Given the description of an element on the screen output the (x, y) to click on. 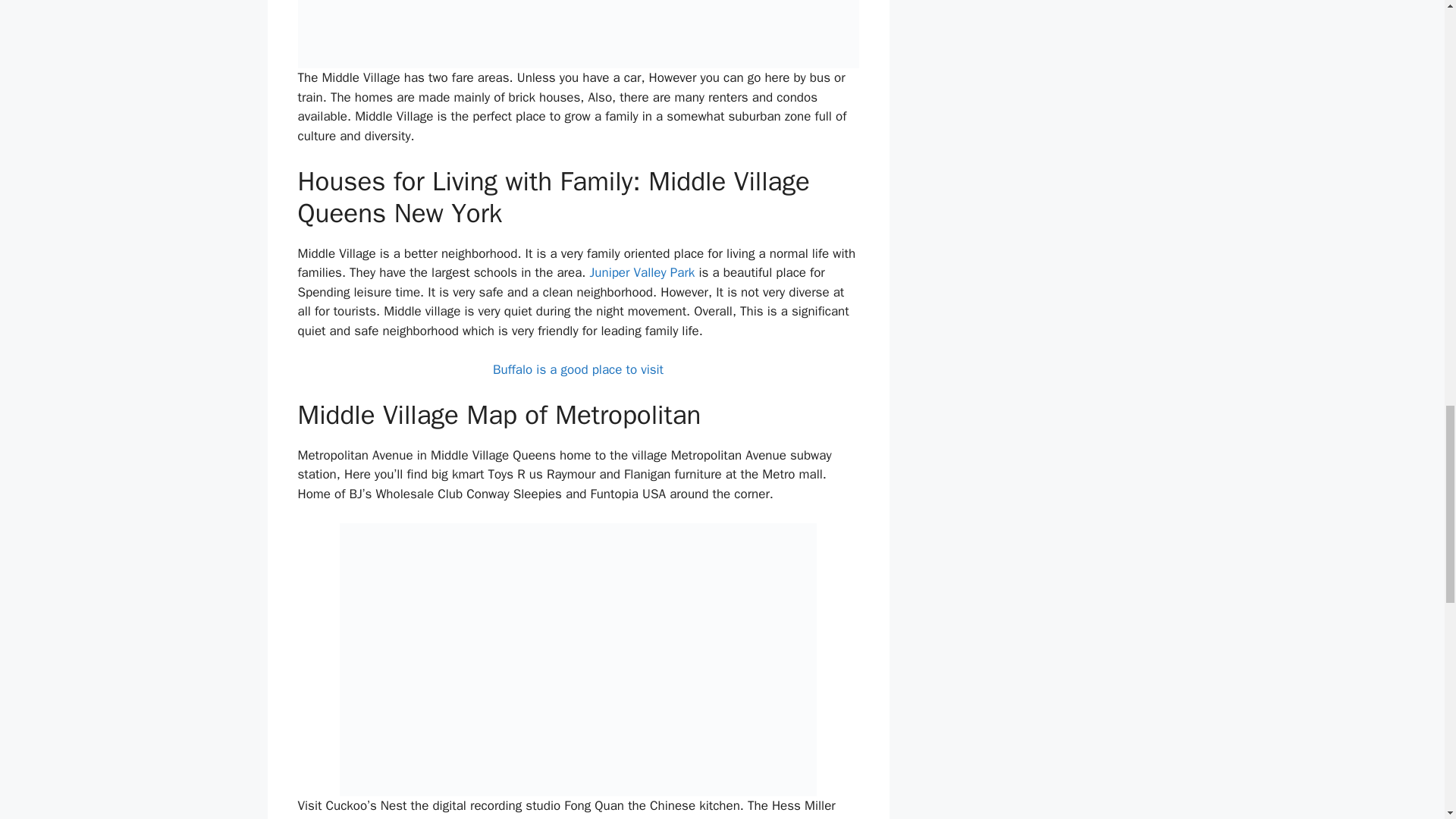
Middle Village Queens New York City (578, 33)
Juniper Valley Park (642, 272)
Middle Village Queens New York City (577, 659)
Buffalo is a good place to visit (578, 369)
